Given the description of an element on the screen output the (x, y) to click on. 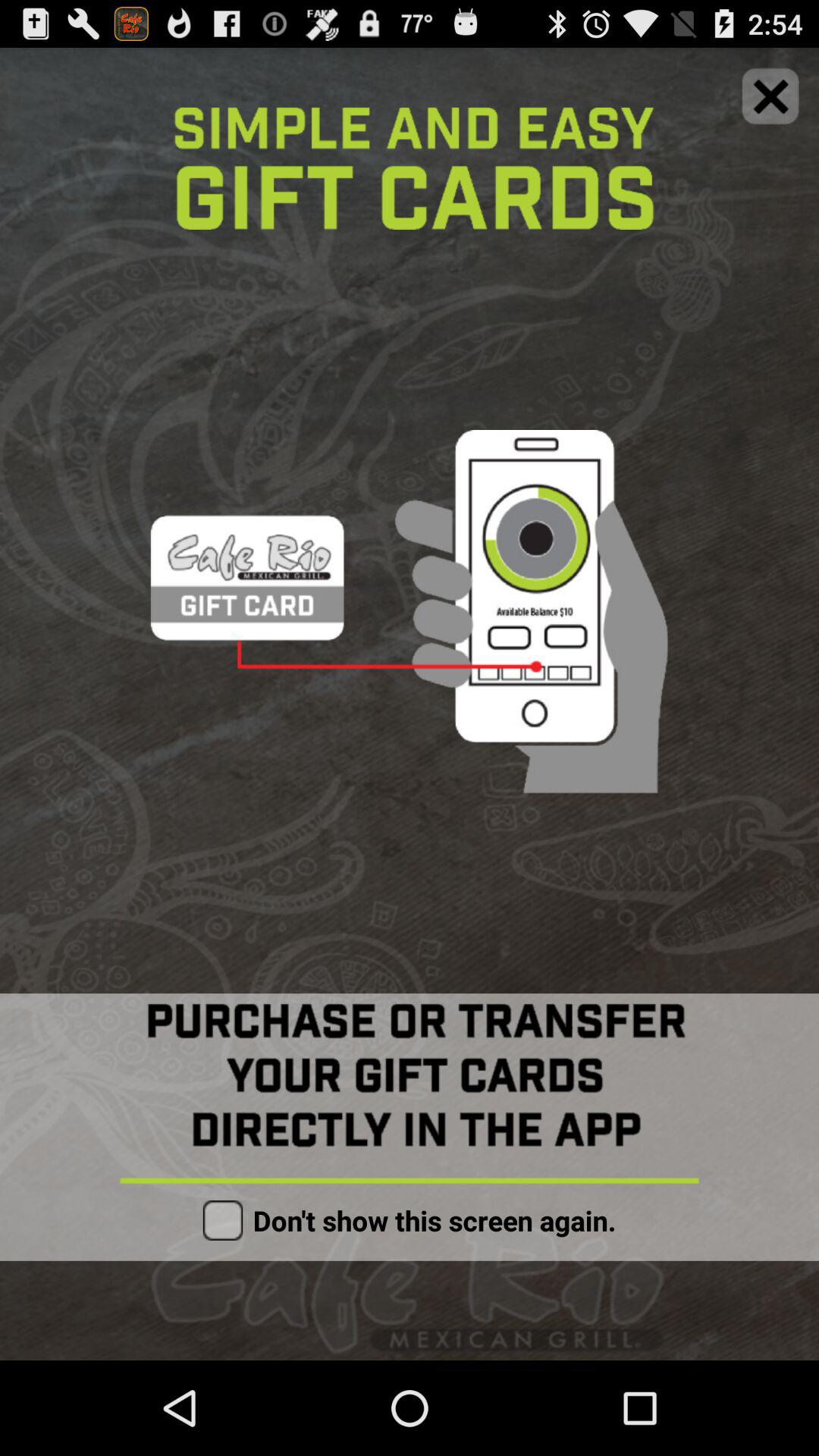
close and return to previous (770, 95)
